Given the description of an element on the screen output the (x, y) to click on. 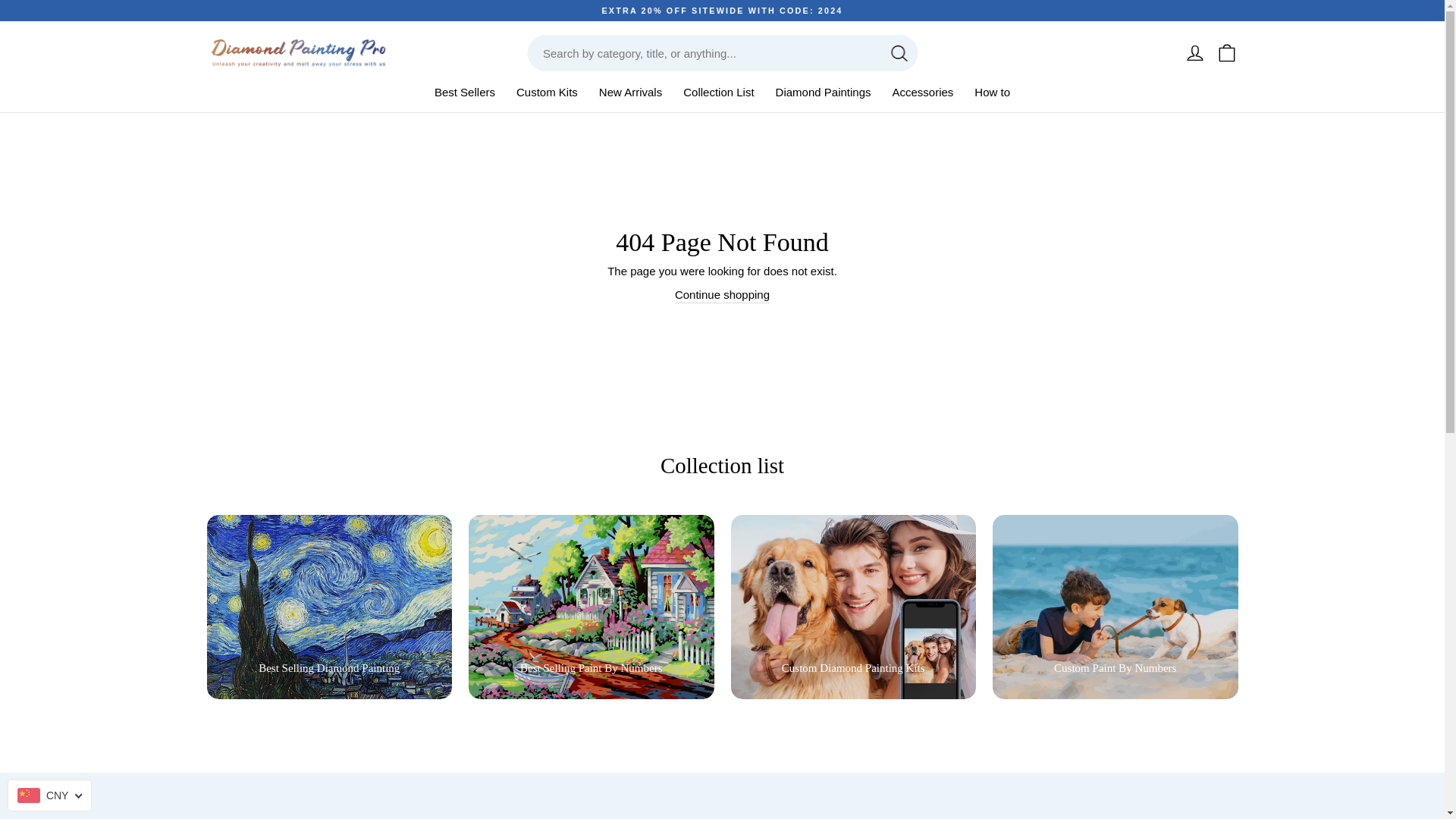
Best Sellers (464, 91)
How to (992, 91)
Collection List (718, 91)
Custom Kits (547, 91)
Cart (1225, 52)
Accessories (922, 91)
Diamond Paintings (823, 91)
New Arrivals (630, 91)
